Given the description of an element on the screen output the (x, y) to click on. 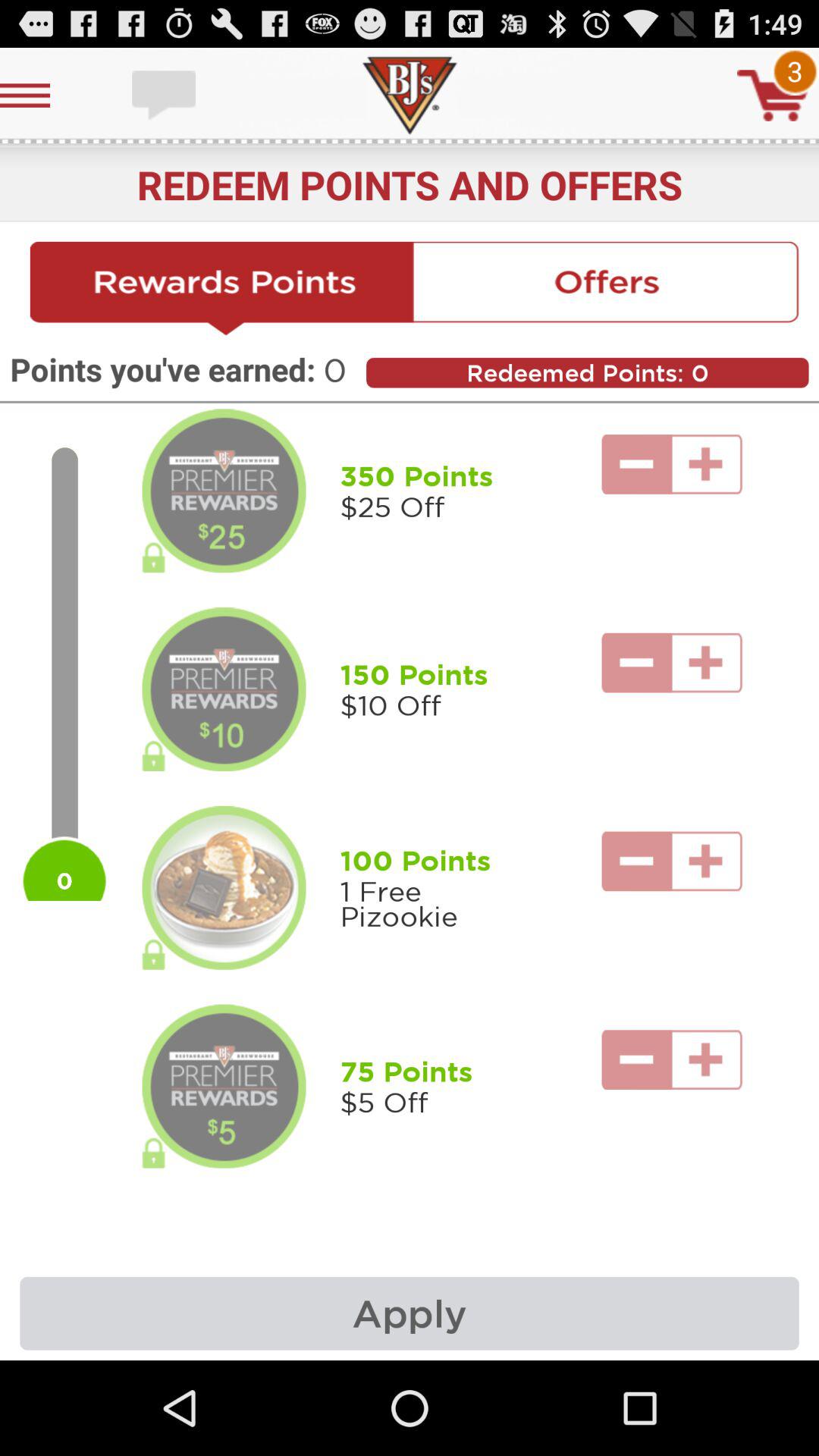
button for item page (223, 888)
